Given the description of an element on the screen output the (x, y) to click on. 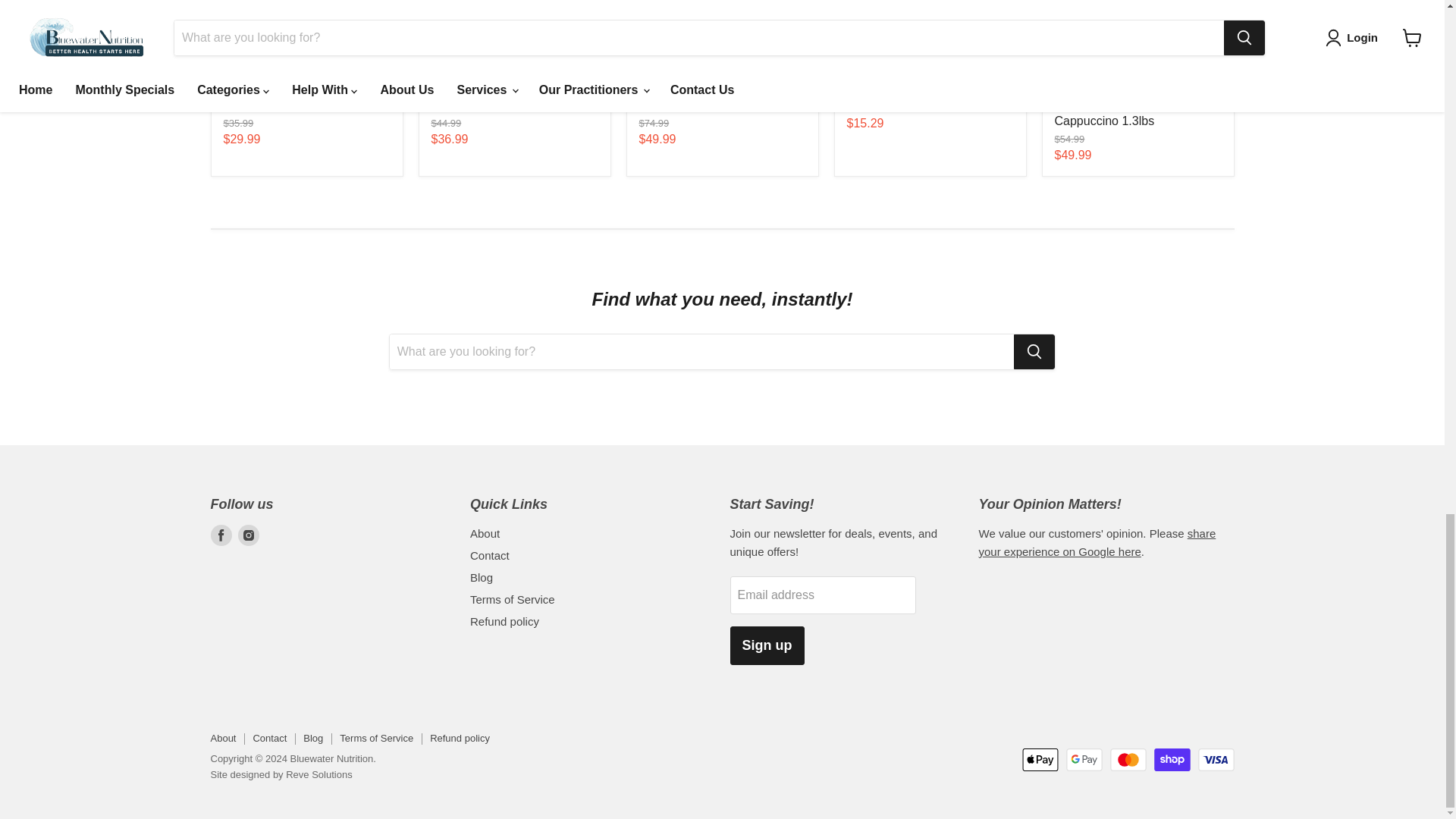
Instagram (248, 535)
Mastercard (1128, 759)
Apple Pay (1040, 759)
Facebook (221, 535)
Google Pay (1083, 759)
